Given the description of an element on the screen output the (x, y) to click on. 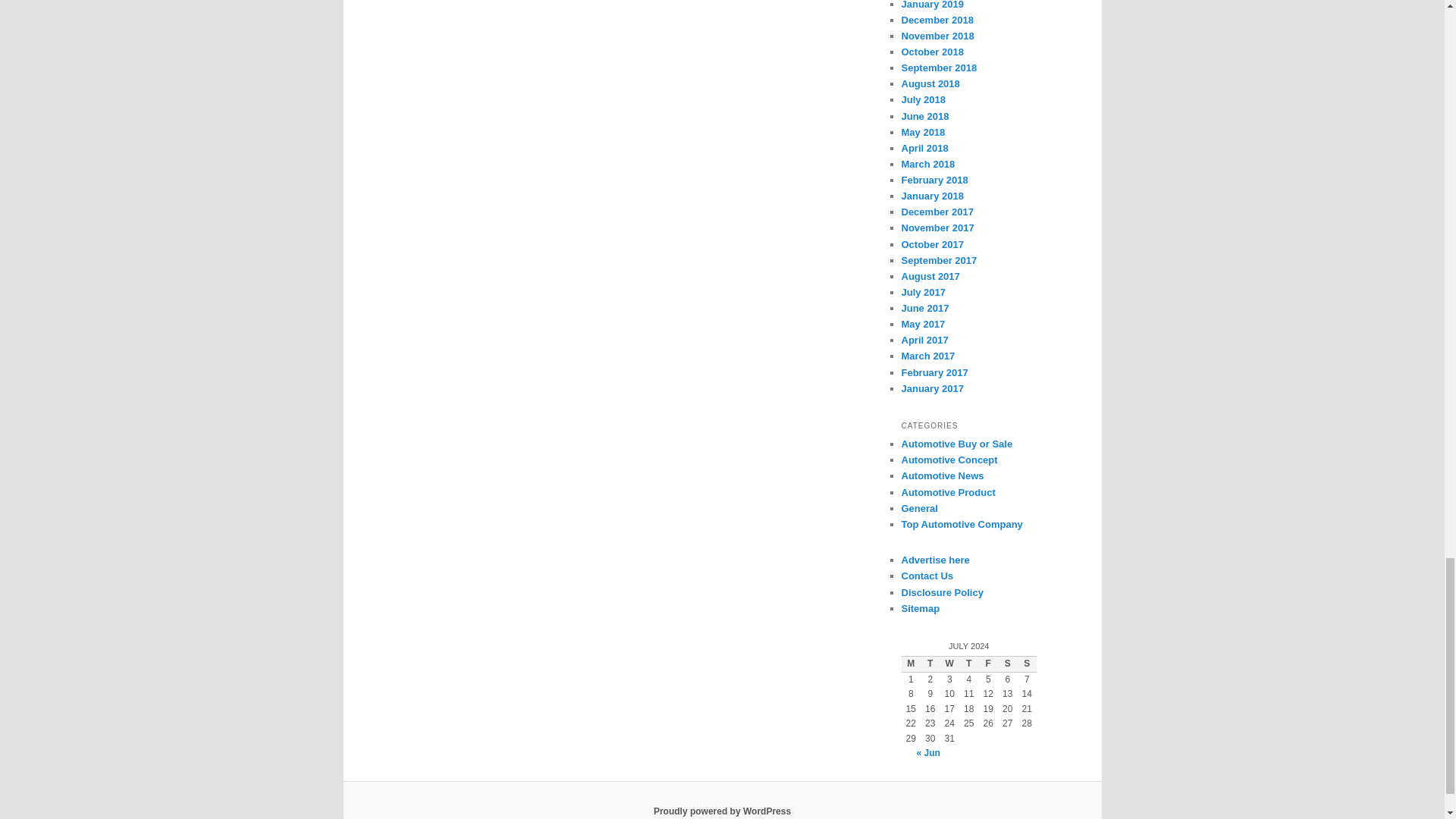
Semantic Personal Publishing Platform (721, 810)
Tuesday (930, 664)
Monday (910, 664)
Wednesday (949, 664)
Friday (987, 664)
Sunday (1026, 664)
Saturday (1007, 664)
Thursday (968, 664)
